Given the description of an element on the screen output the (x, y) to click on. 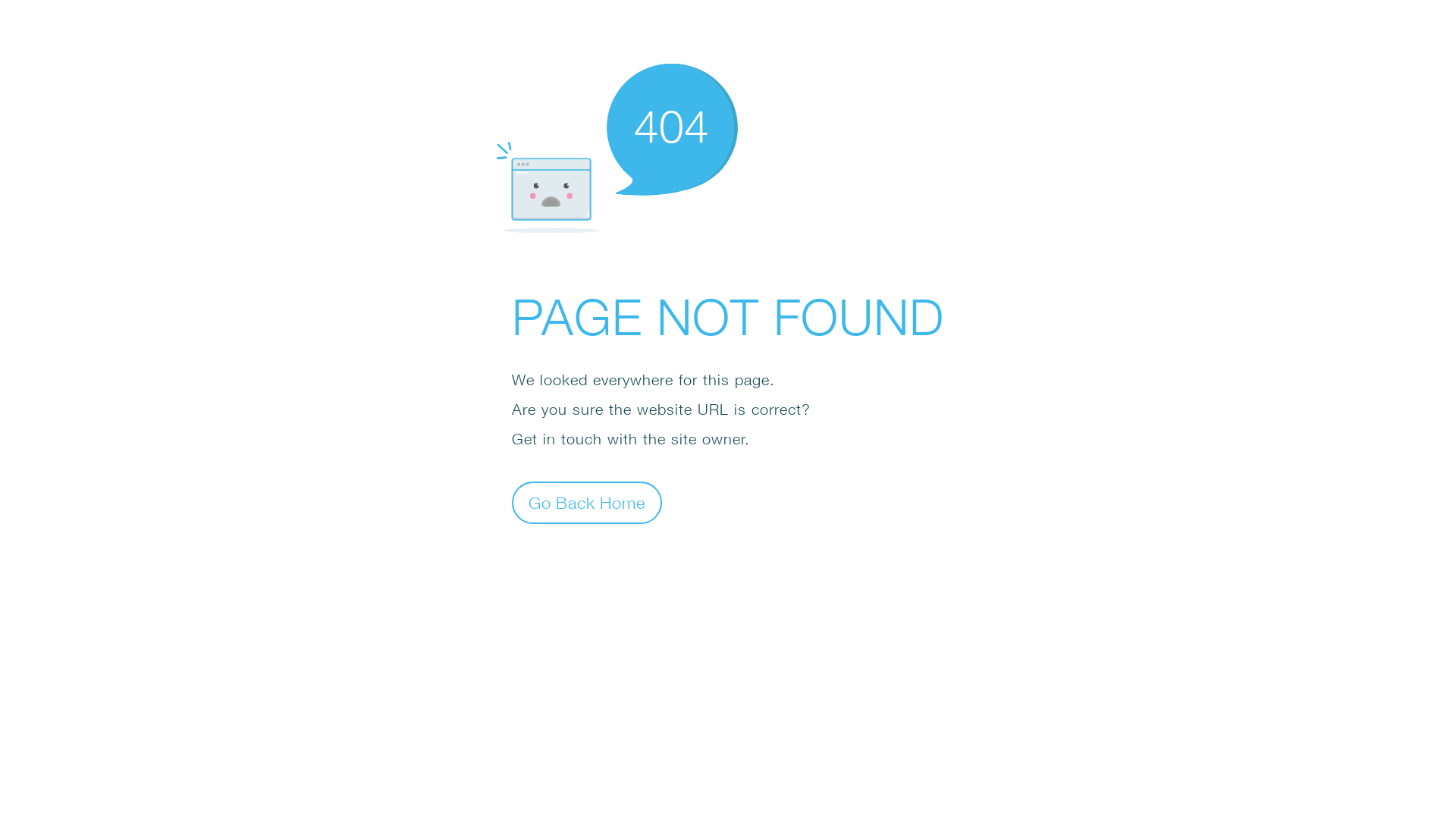
Go Back Home Element type: text (586, 502)
